Given the description of an element on the screen output the (x, y) to click on. 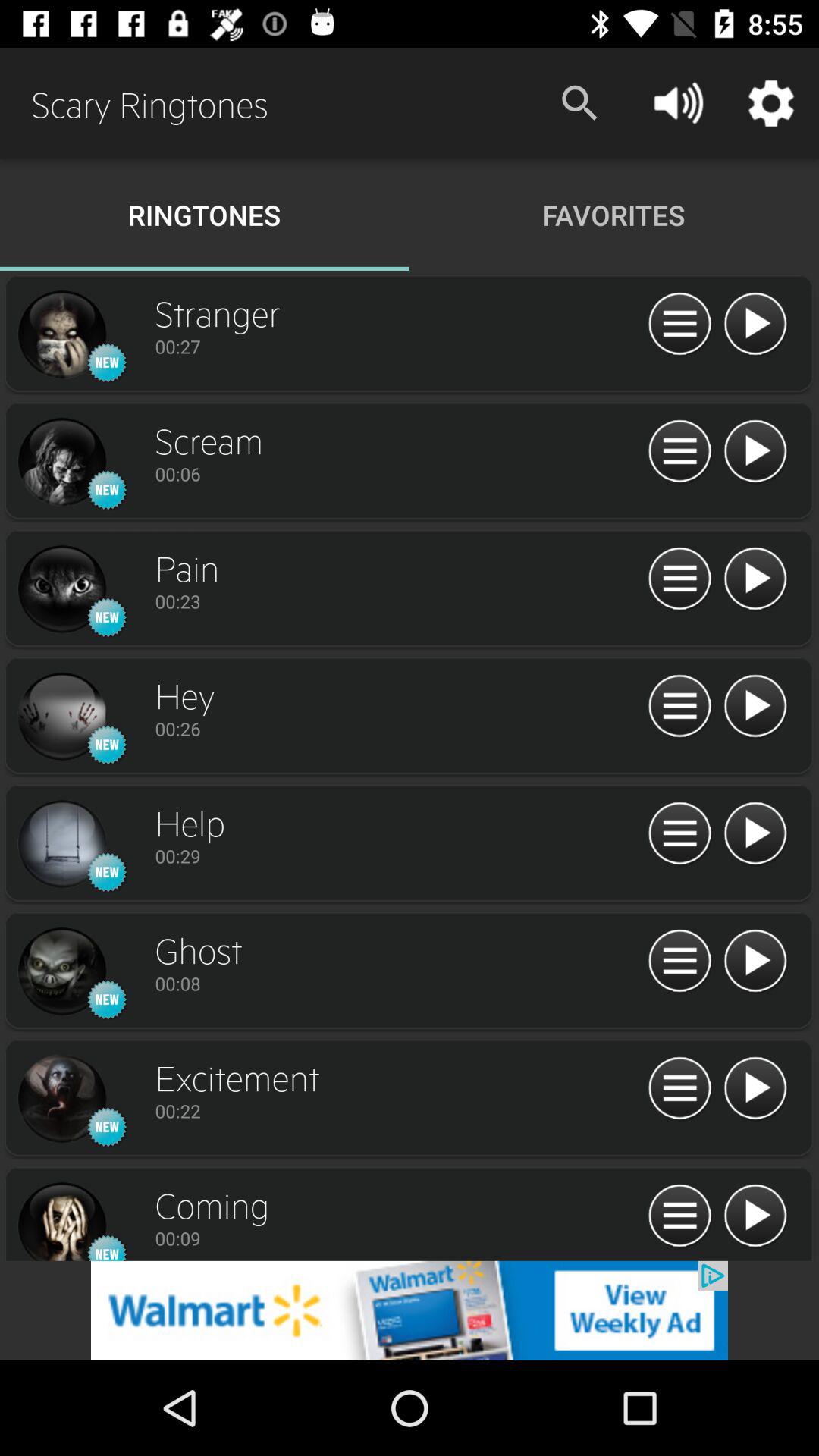
play patton (755, 1088)
